Given the description of an element on the screen output the (x, y) to click on. 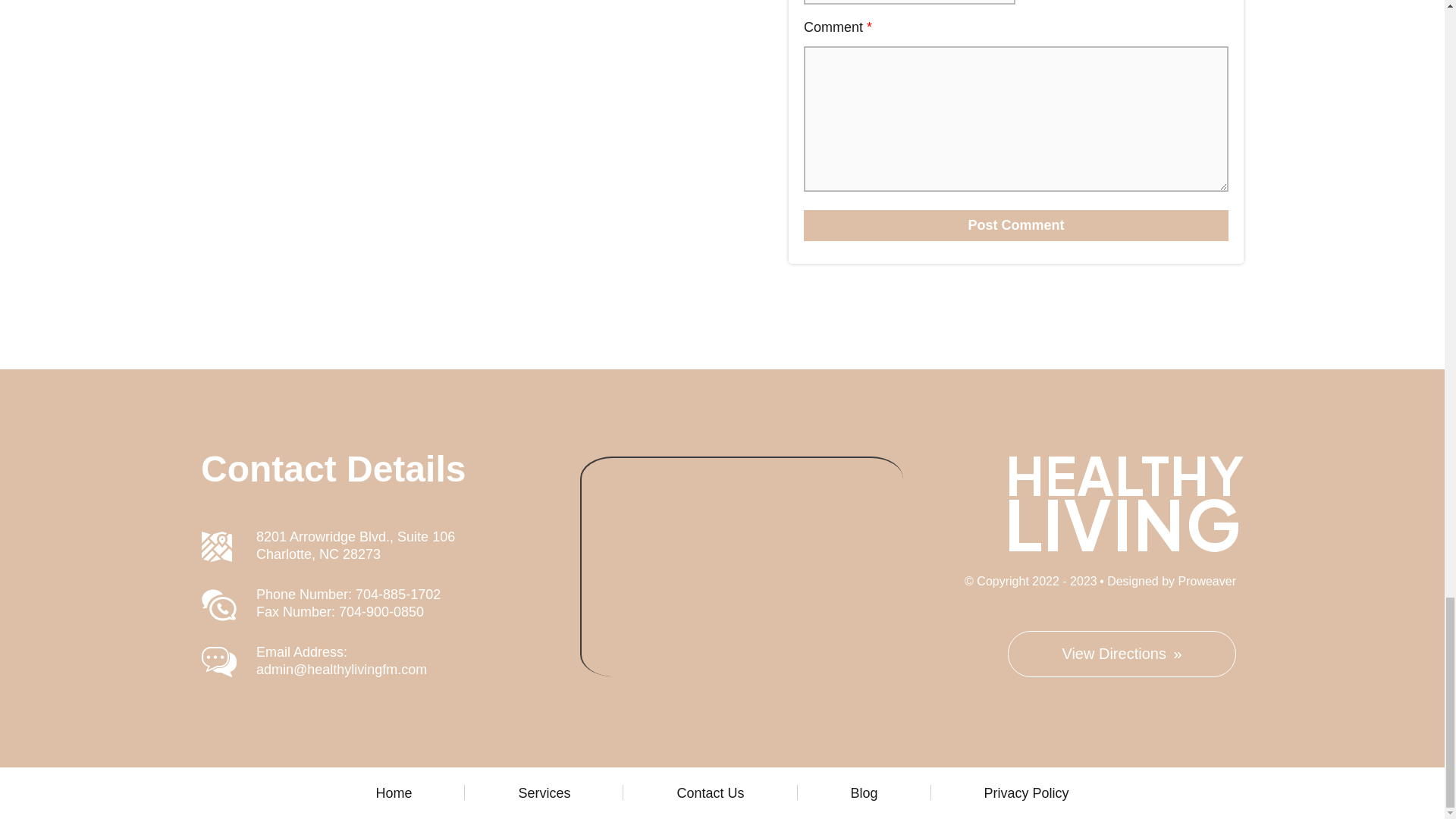
Post Comment (1015, 224)
Proweaver (1206, 581)
Post Comment (1015, 224)
